Given the description of an element on the screen output the (x, y) to click on. 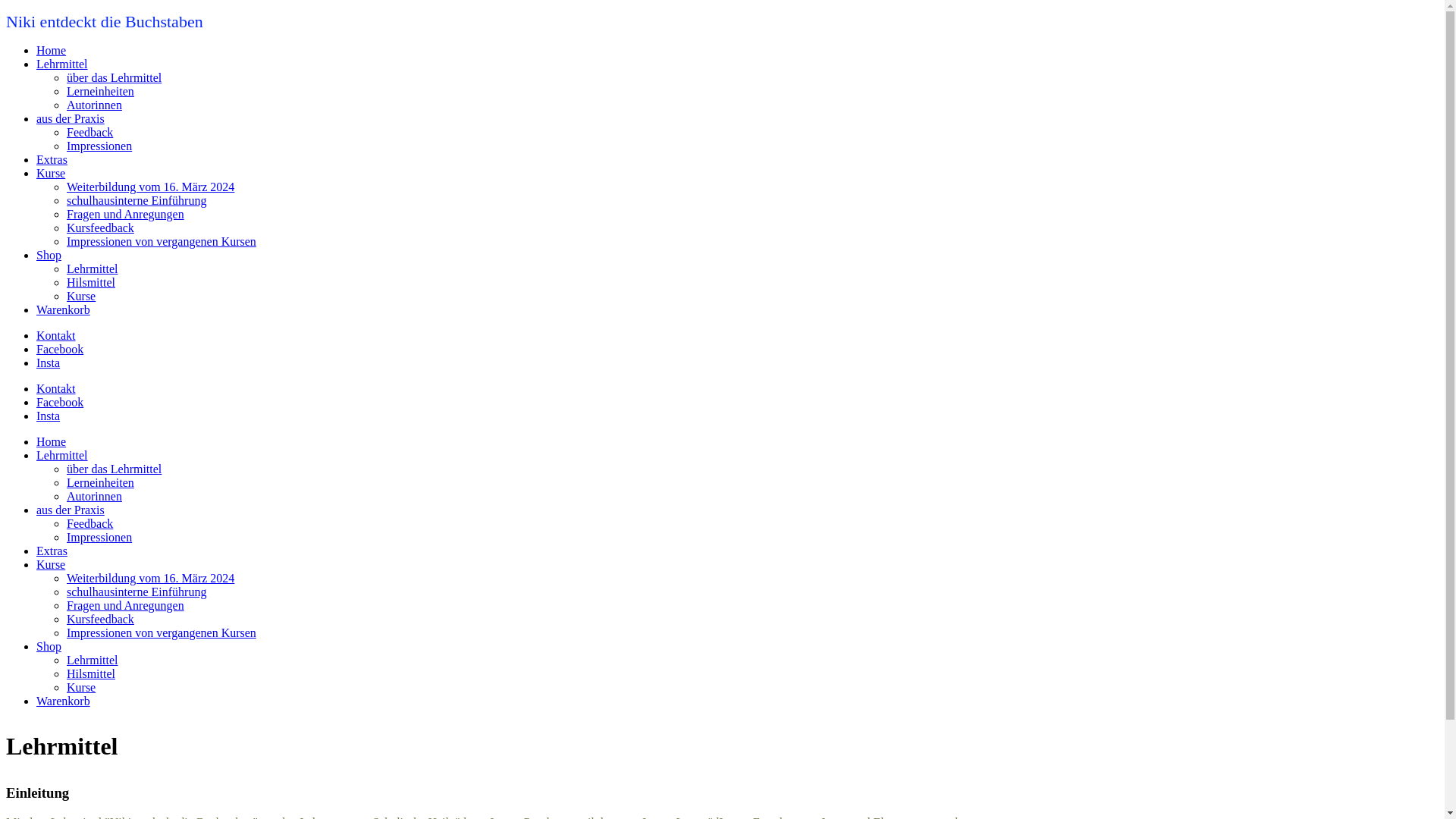
Kurse Element type: text (80, 295)
Impressionen Element type: text (98, 536)
Warenkorb Element type: text (63, 700)
Shop Element type: text (48, 254)
Facebook Element type: text (59, 348)
Insta Element type: text (47, 362)
Autorinnen Element type: text (94, 495)
Lerneinheiten Element type: text (100, 482)
Extras Element type: text (51, 159)
Kontakt Element type: text (55, 388)
Extras Element type: text (51, 550)
Impressionen Element type: text (98, 145)
Autorinnen Element type: text (94, 104)
Insta Element type: text (47, 415)
aus der Praxis Element type: text (70, 118)
Lehrmittel Element type: text (92, 268)
Fragen und Anregungen Element type: text (125, 605)
aus der Praxis Element type: text (70, 509)
Lehrmittel Element type: text (92, 659)
Kursfeedback Element type: text (100, 618)
Fragen und Anregungen Element type: text (125, 213)
Hilsmittel Element type: text (90, 673)
Impressionen von vergangenen Kursen Element type: text (161, 632)
Facebook Element type: text (59, 401)
Home Element type: text (50, 49)
Lerneinheiten Element type: text (100, 90)
Kurse Element type: text (50, 172)
Lehrmittel Element type: text (61, 454)
Warenkorb Element type: text (63, 309)
Kurse Element type: text (50, 564)
Kursfeedback Element type: text (100, 227)
Shop Element type: text (48, 646)
Kurse Element type: text (80, 686)
Feedback Element type: text (89, 523)
Impressionen von vergangenen Kursen Element type: text (161, 241)
Kontakt Element type: text (55, 335)
Home Element type: text (50, 441)
Lehrmittel Element type: text (61, 63)
Feedback Element type: text (89, 131)
Hilsmittel Element type: text (90, 282)
